Given the description of an element on the screen output the (x, y) to click on. 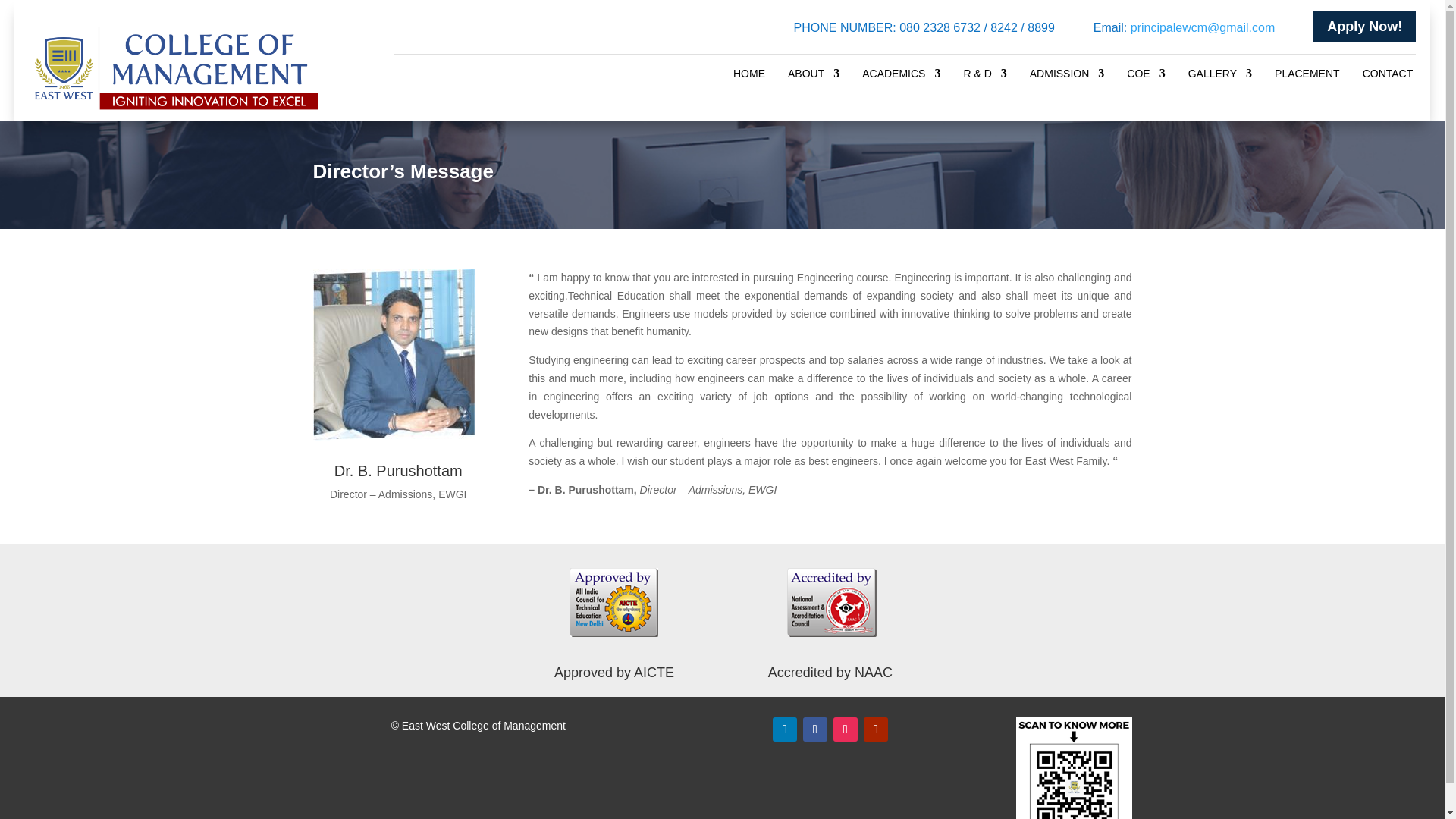
Follow on Instagram (844, 729)
ewcm-logo (173, 67)
PLACEMENT (1307, 76)
ADMISSION (1067, 76)
Follow on Youtube (875, 729)
4 (393, 354)
Follow on LinkedIn (784, 729)
ACADEMICS (900, 76)
QR (1073, 768)
GALLERY (1220, 76)
Follow on Facebook (815, 729)
Apply Now! (1364, 26)
COE (1145, 76)
HOME (749, 76)
ABOUT (813, 76)
